Given the description of an element on the screen output the (x, y) to click on. 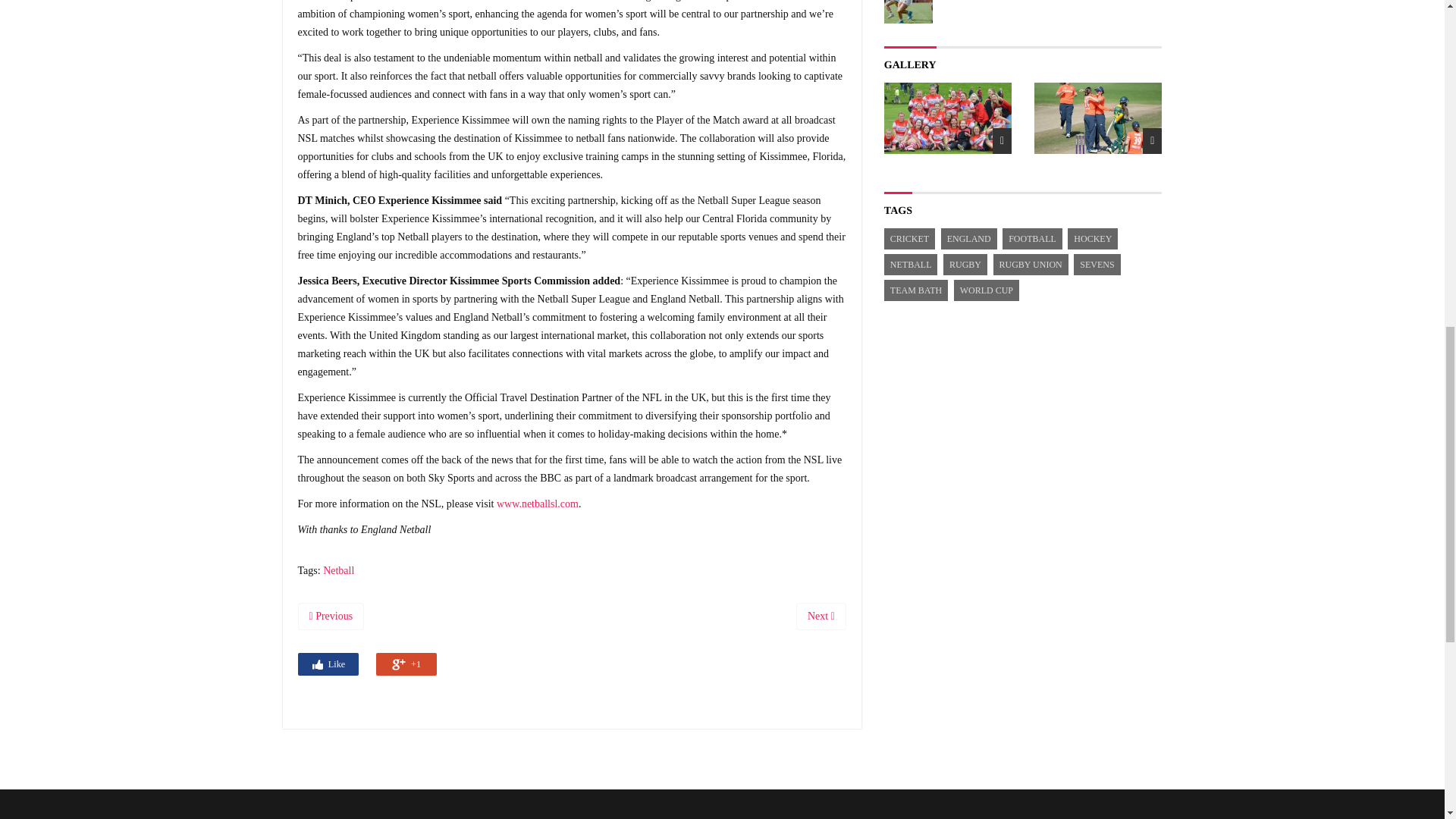
Share on Twitter (367, 662)
Share on Google Plus (405, 663)
Page 1 (571, 76)
Share on Facebook (327, 663)
